Given the description of an element on the screen output the (x, y) to click on. 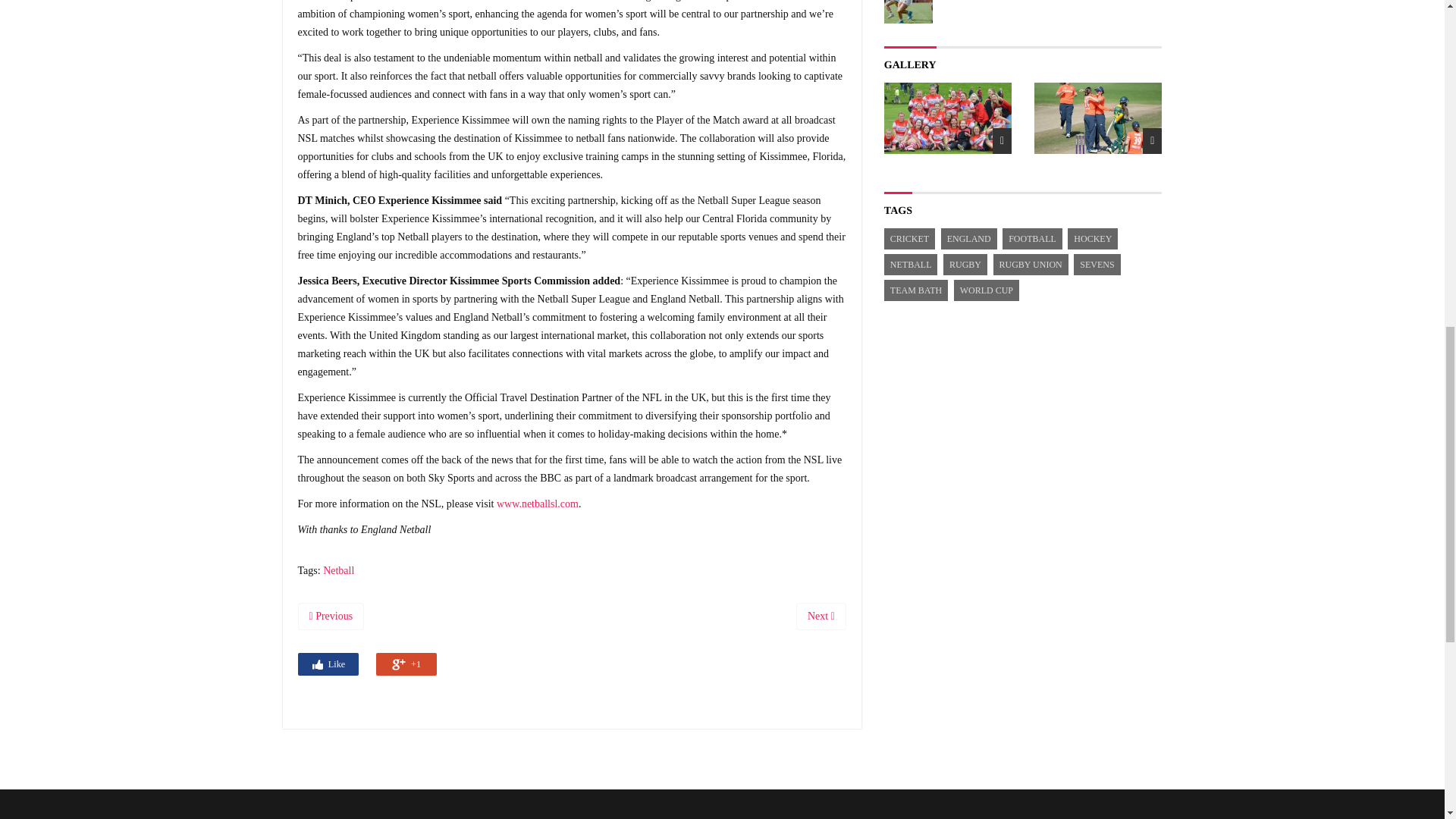
Share on Twitter (367, 662)
Share on Google Plus (405, 663)
Page 1 (571, 76)
Share on Facebook (327, 663)
